Given the description of an element on the screen output the (x, y) to click on. 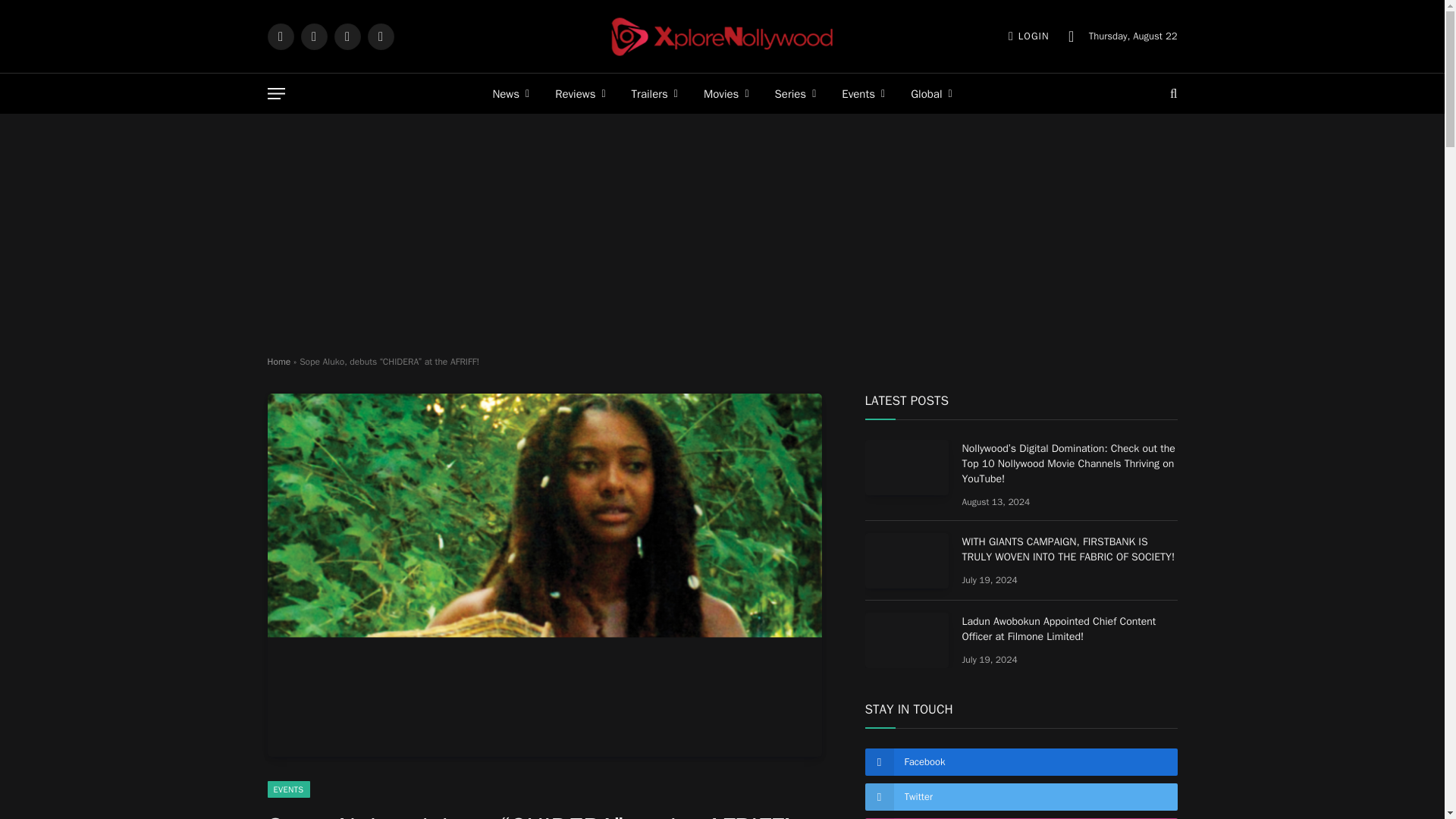
Switch to Light Design. (1071, 36)
XploreNollywood (721, 36)
